Given the description of an element on the screen output the (x, y) to click on. 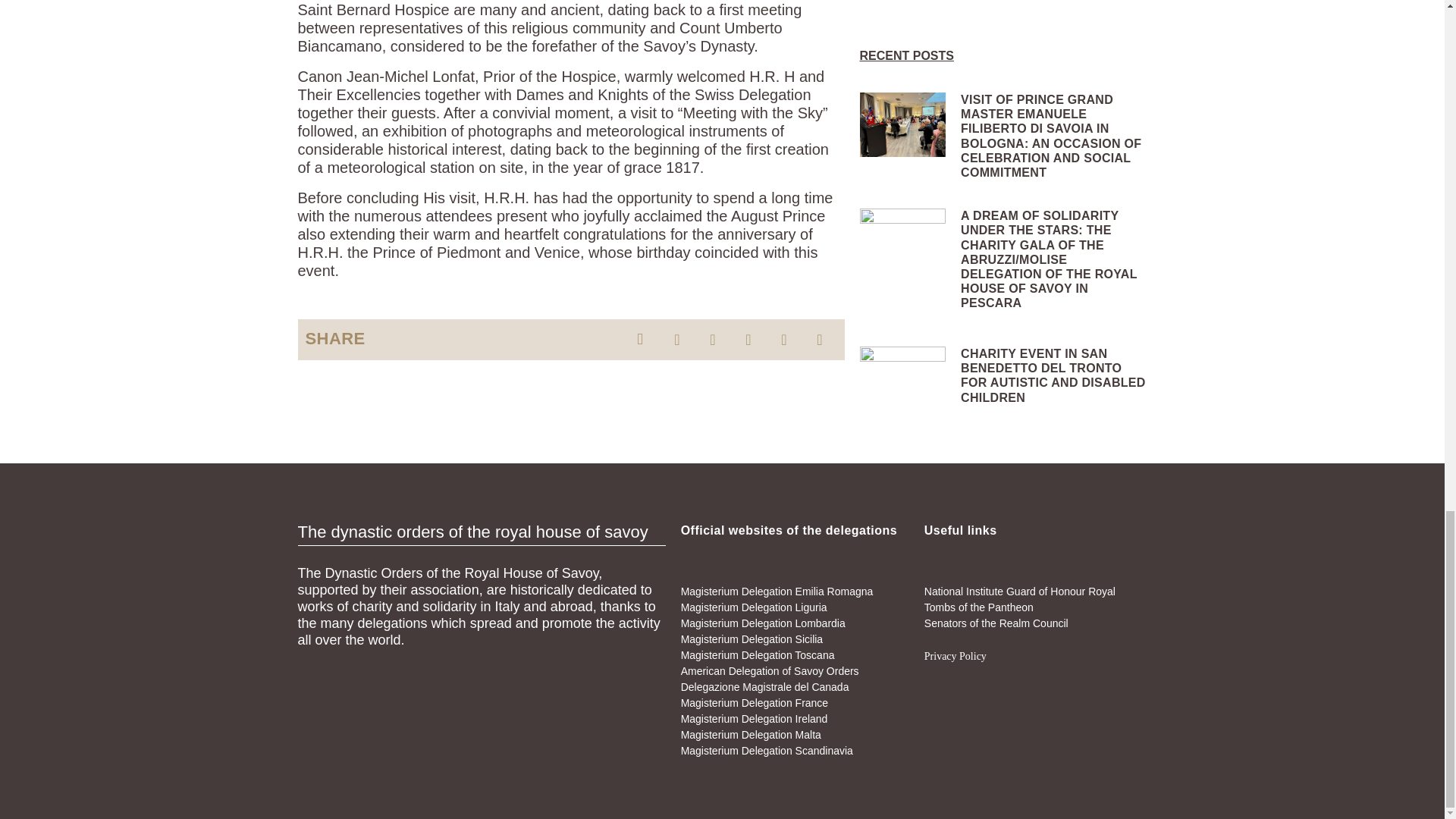
Privacy Policy  (955, 655)
